Given the description of an element on the screen output the (x, y) to click on. 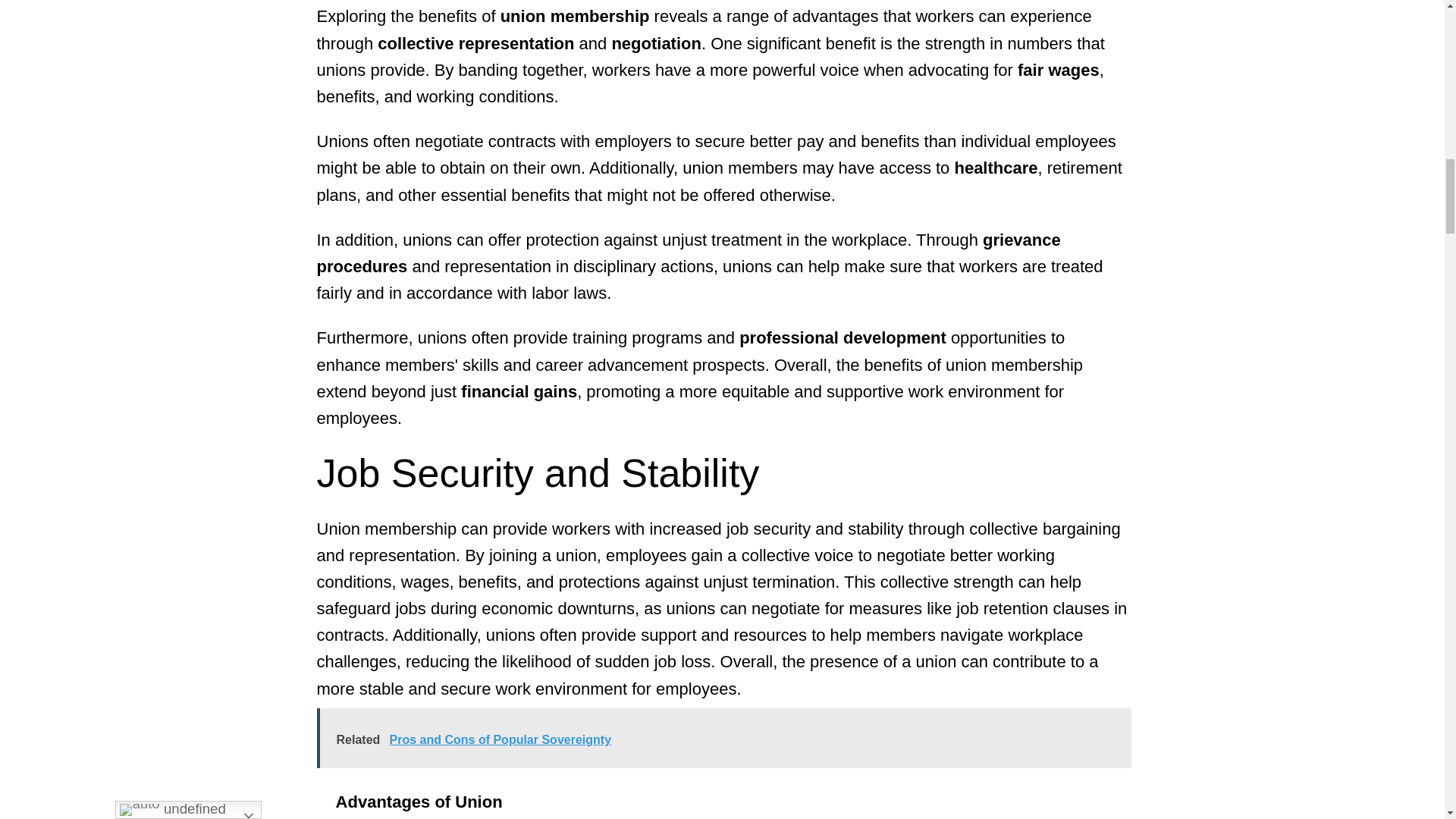
Related  Pros and Cons of Popular Sovereignty (724, 738)
